Given the description of an element on the screen output the (x, y) to click on. 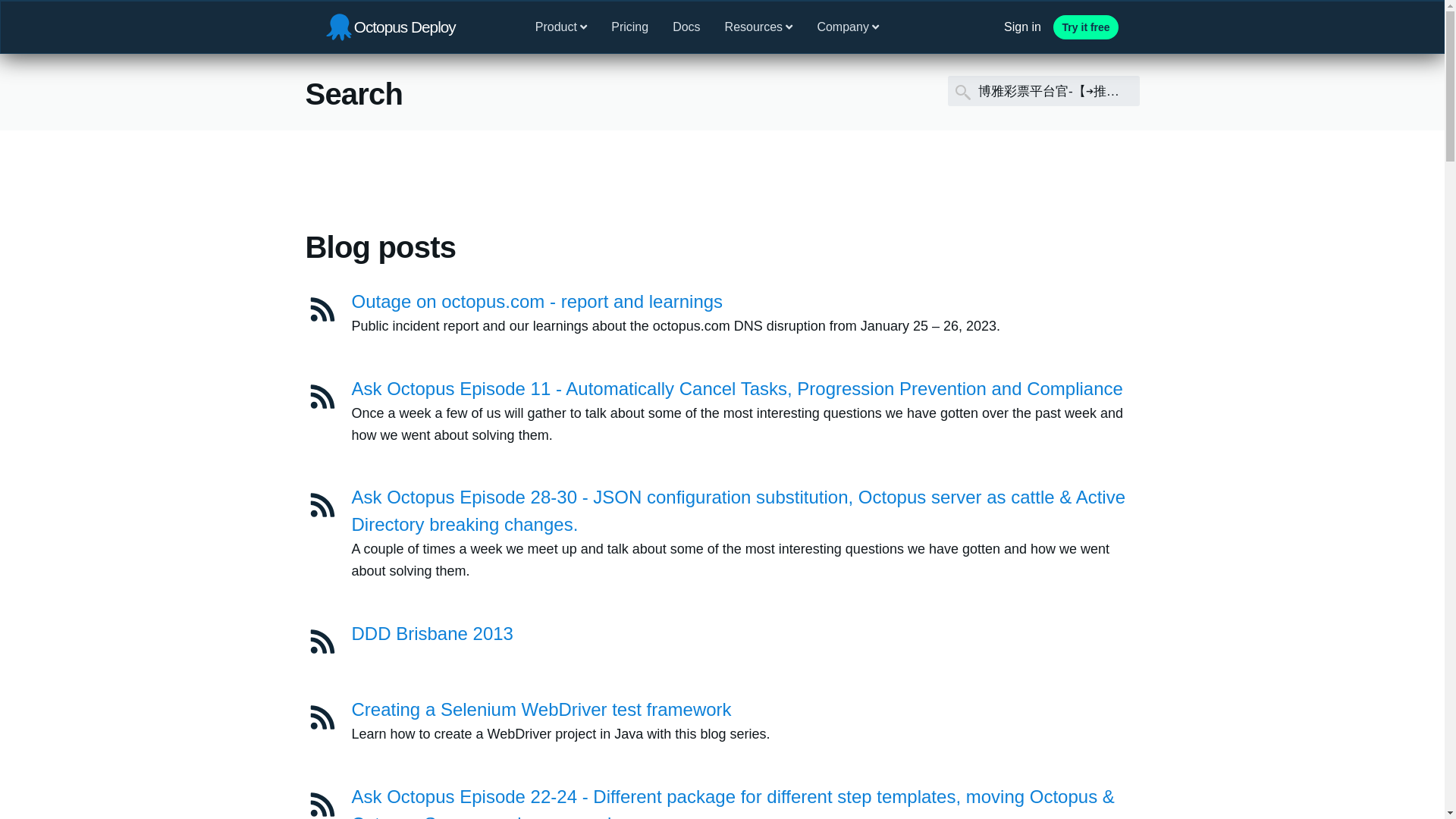
Company (848, 27)
Blog post (321, 308)
Blog post (321, 717)
Pricing (629, 27)
Blog post (321, 641)
Blog post (321, 717)
Resources (759, 27)
Blog post (321, 804)
Blog post (321, 396)
Blog post (321, 308)
Octopus Deploy (390, 26)
Blog post (321, 504)
Blog post (321, 641)
Blog post (321, 504)
Blog post (321, 396)
